Given the description of an element on the screen output the (x, y) to click on. 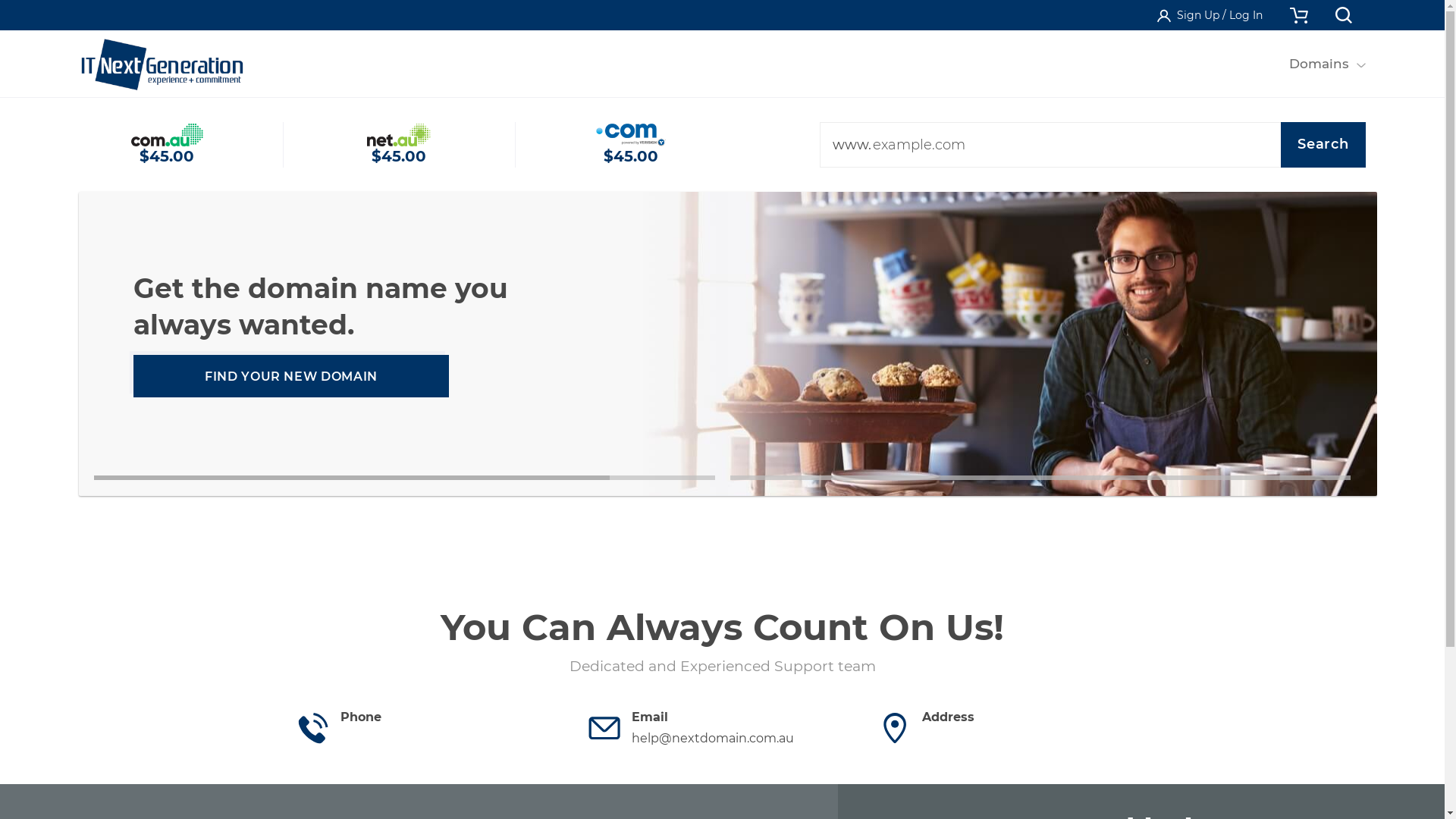
Search Element type: text (1322, 144)
Domains Element type: text (1318, 63)
Email
help@nextdomain.com.au Element type: text (722, 727)
BUILD NOW Element type: text (290, 375)
Phone Element type: text (431, 727)
